Given the description of an element on the screen output the (x, y) to click on. 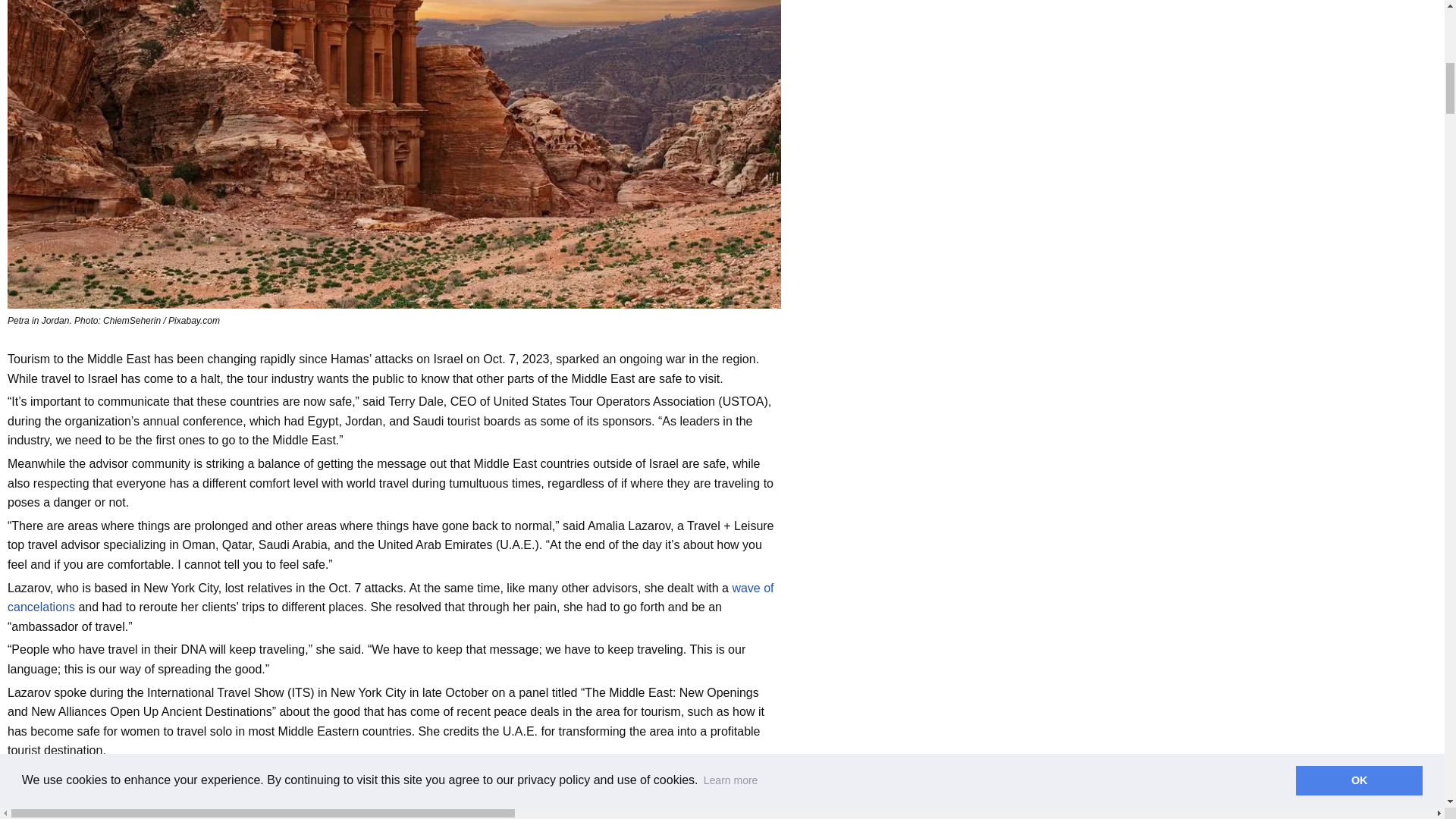
wave of cancelations (390, 597)
